Given the description of an element on the screen output the (x, y) to click on. 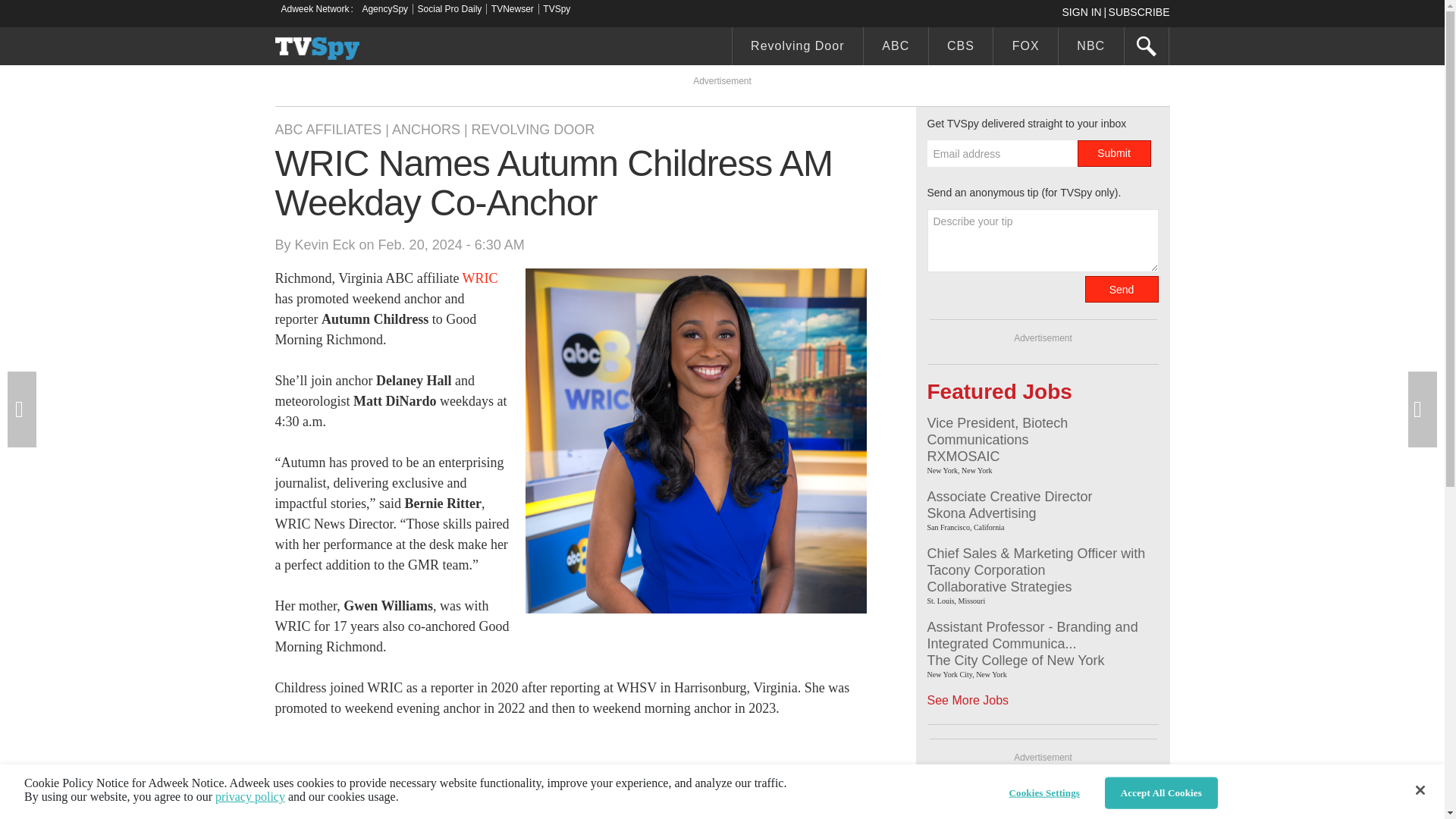
Adweek Network (316, 9)
Revolving Door (797, 48)
Submit (1113, 153)
Social Pro Daily (449, 9)
CBS (960, 48)
NBC (1091, 48)
AgencySpy (384, 9)
TVNewser (513, 9)
Covering local television news (317, 47)
Send (1120, 289)
SUBSCRIBE (1139, 11)
SIGN IN (1084, 11)
TVSpy (556, 9)
FOX (1025, 48)
ABC (895, 48)
